Given the description of an element on the screen output the (x, y) to click on. 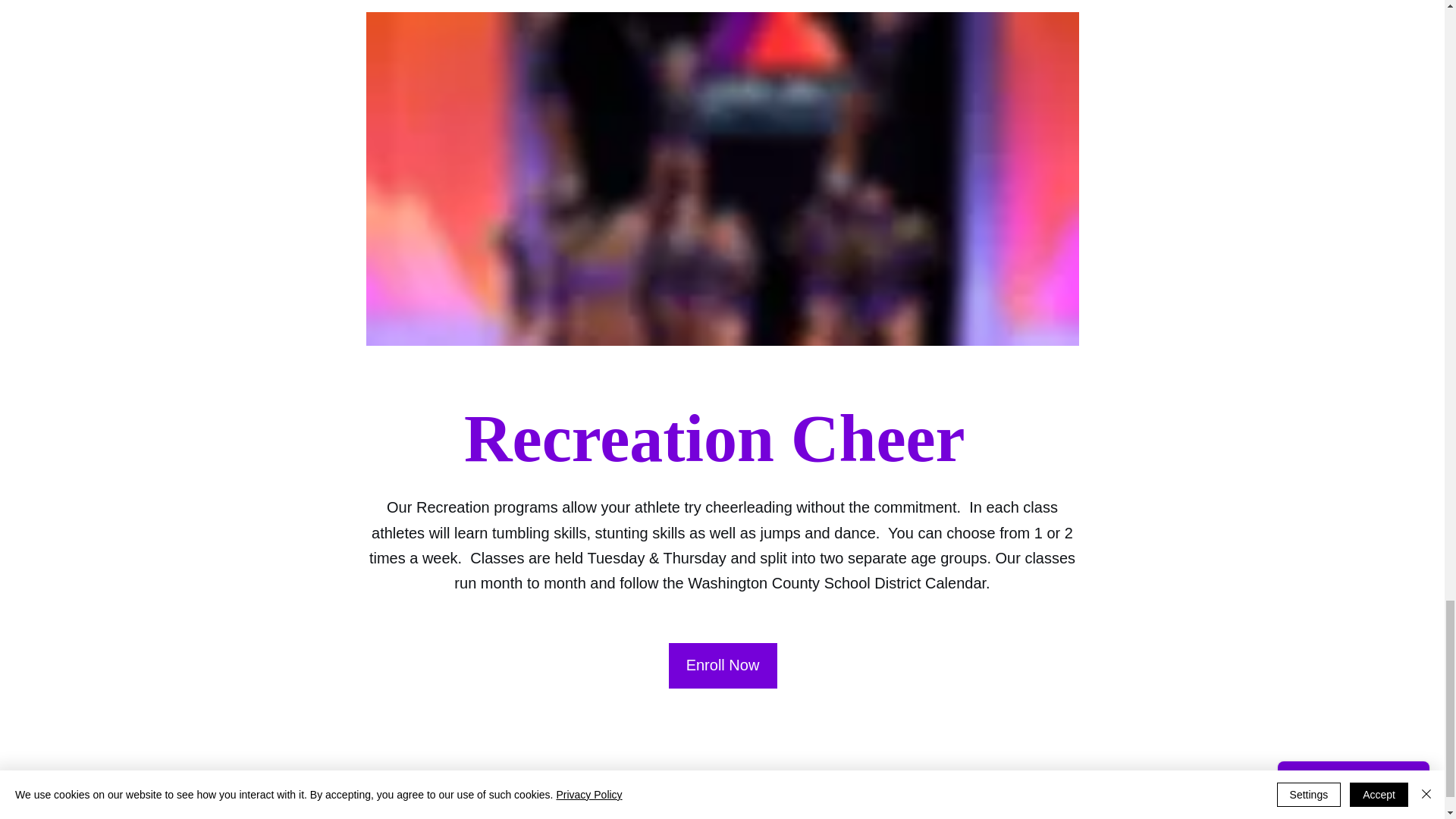
Enroll Now (722, 665)
